Given the description of an element on the screen output the (x, y) to click on. 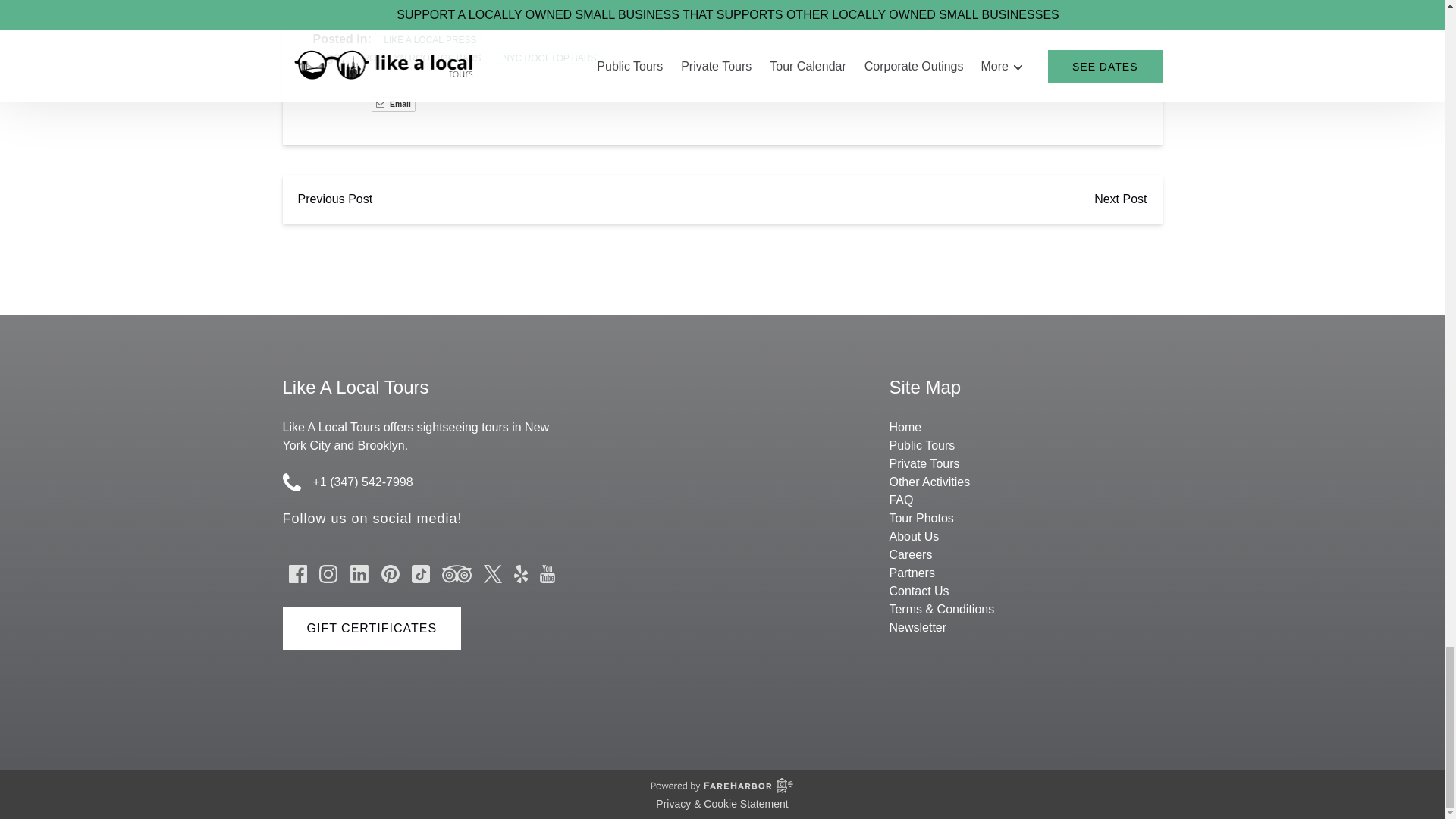
Phone (290, 482)
NYC ROOFTOP BARS (549, 58)
See the article here (365, 4)
LIKE A LOCAL PRESS (429, 40)
BROOKLYN ROOFTOP BARS (418, 58)
